Given the description of an element on the screen output the (x, y) to click on. 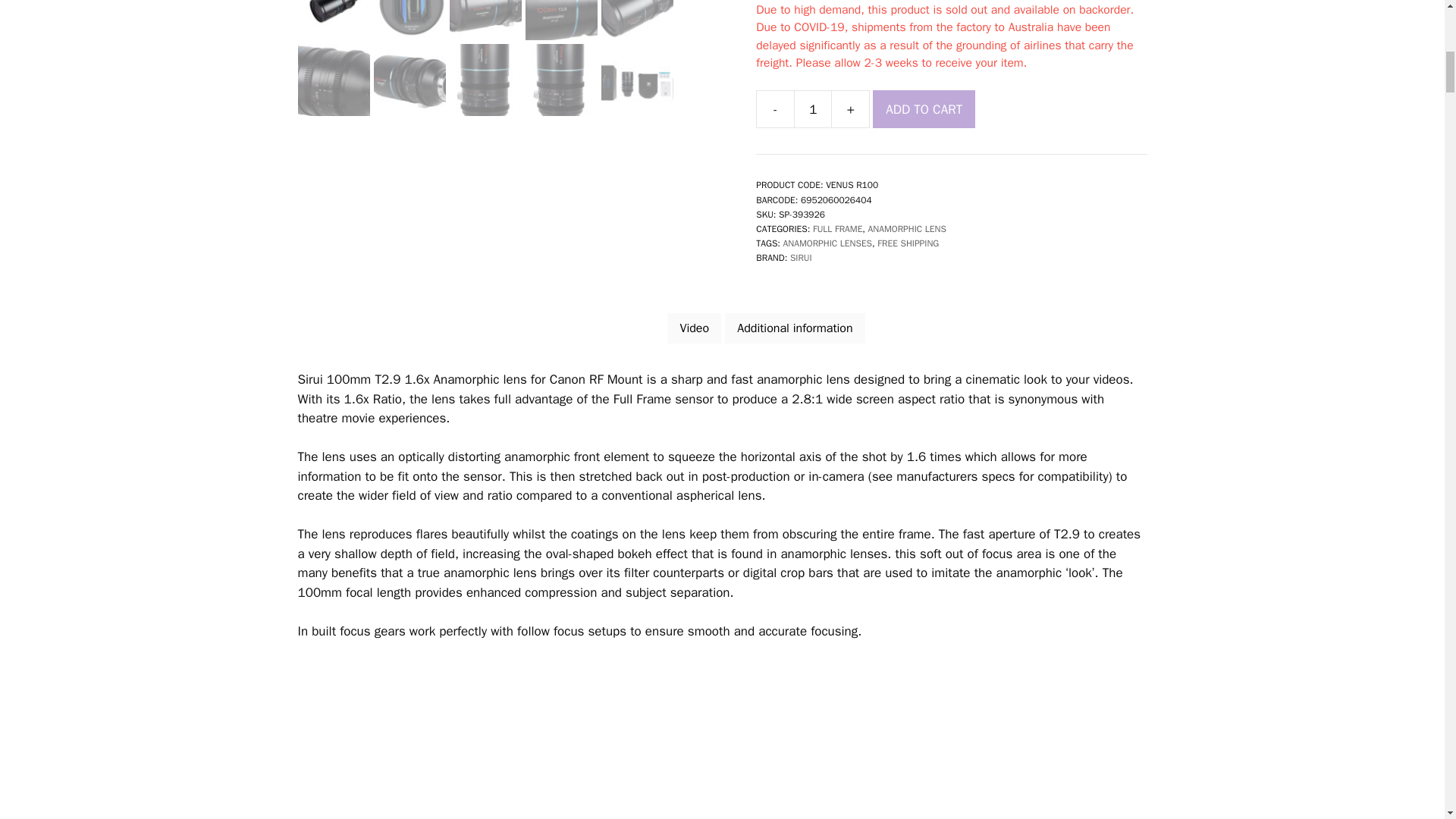
1 (812, 108)
